Given the description of an element on the screen output the (x, y) to click on. 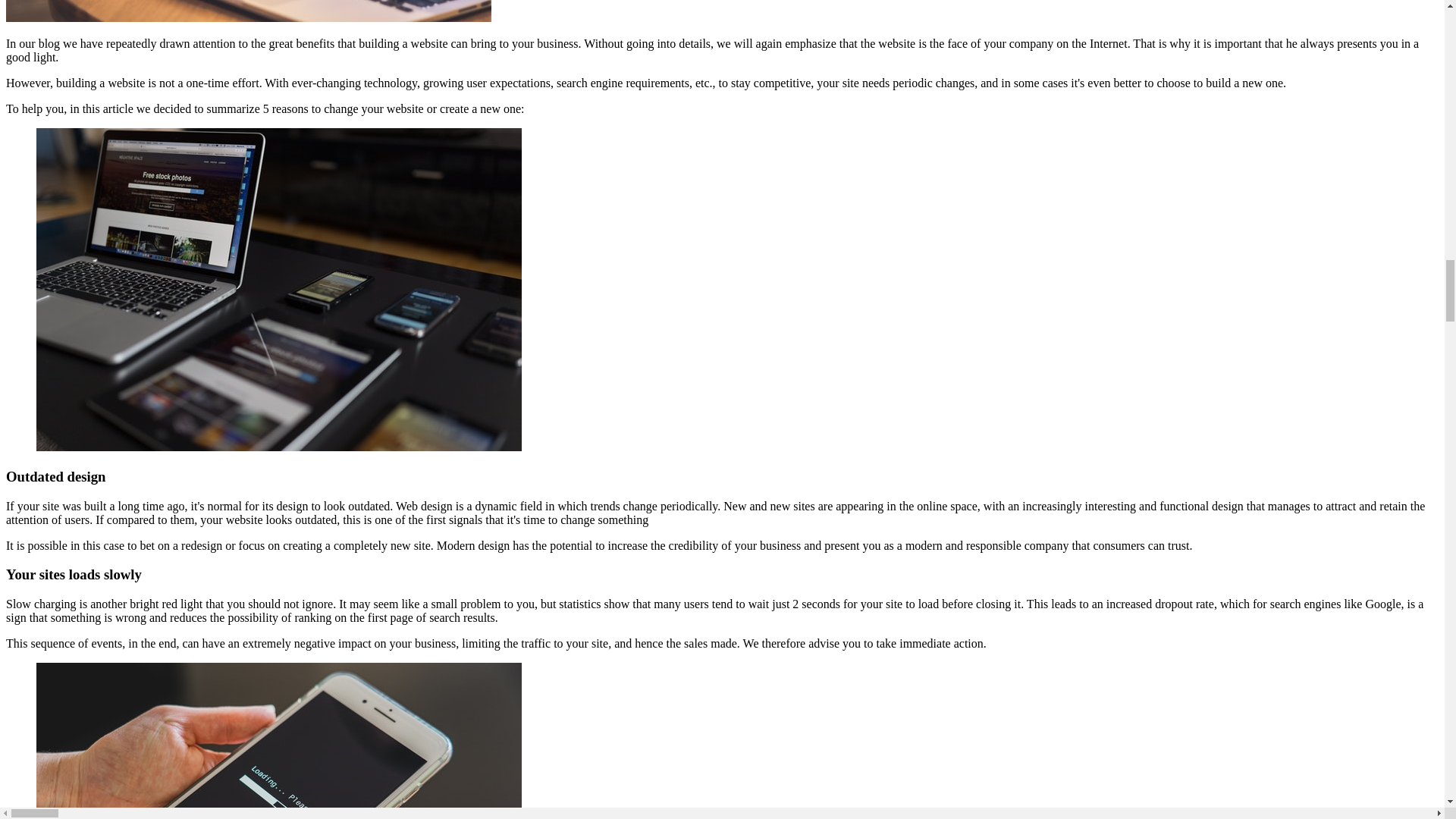
5 reasons to change your website or create a new one (248, 11)
